Given the description of an element on the screen output the (x, y) to click on. 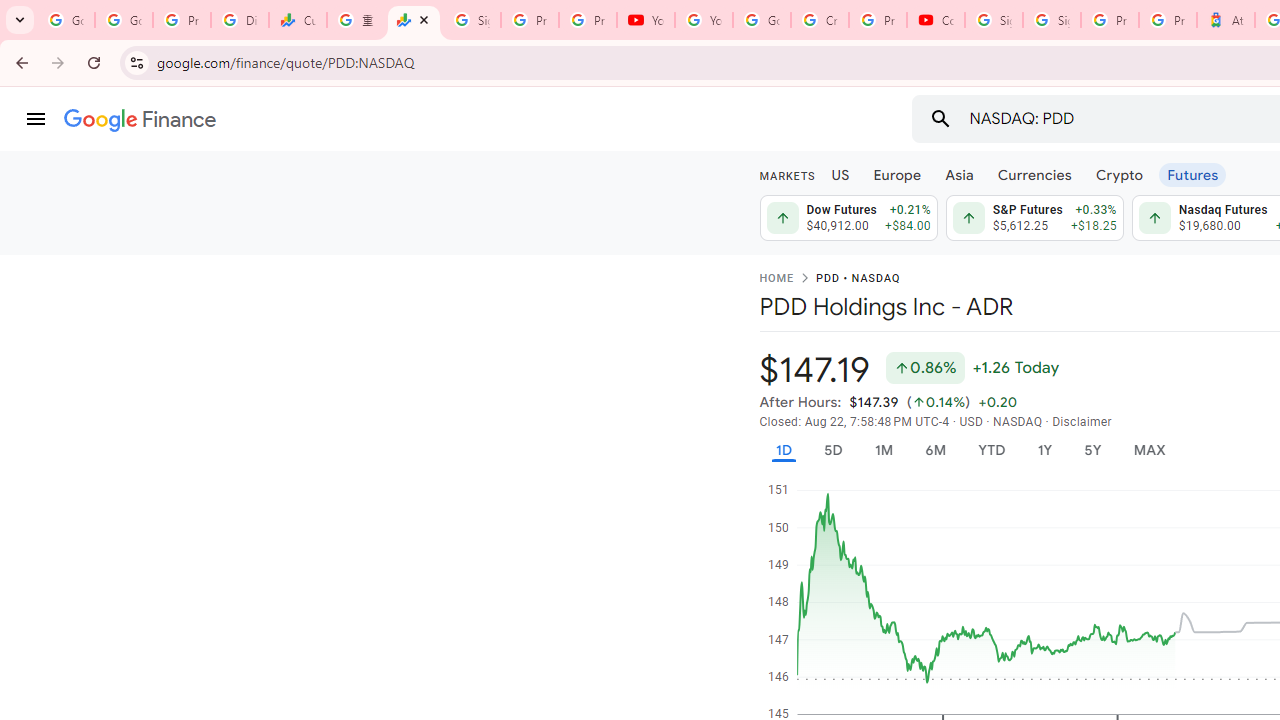
Sign in - Google Accounts (471, 20)
YouTube (703, 20)
1Y (1044, 449)
Crypto (1119, 174)
6M (934, 449)
YouTube (645, 20)
Asia (958, 174)
MAX (1149, 449)
Futures (1192, 174)
Google Workspace Admin Community (65, 20)
